Given the description of an element on the screen output the (x, y) to click on. 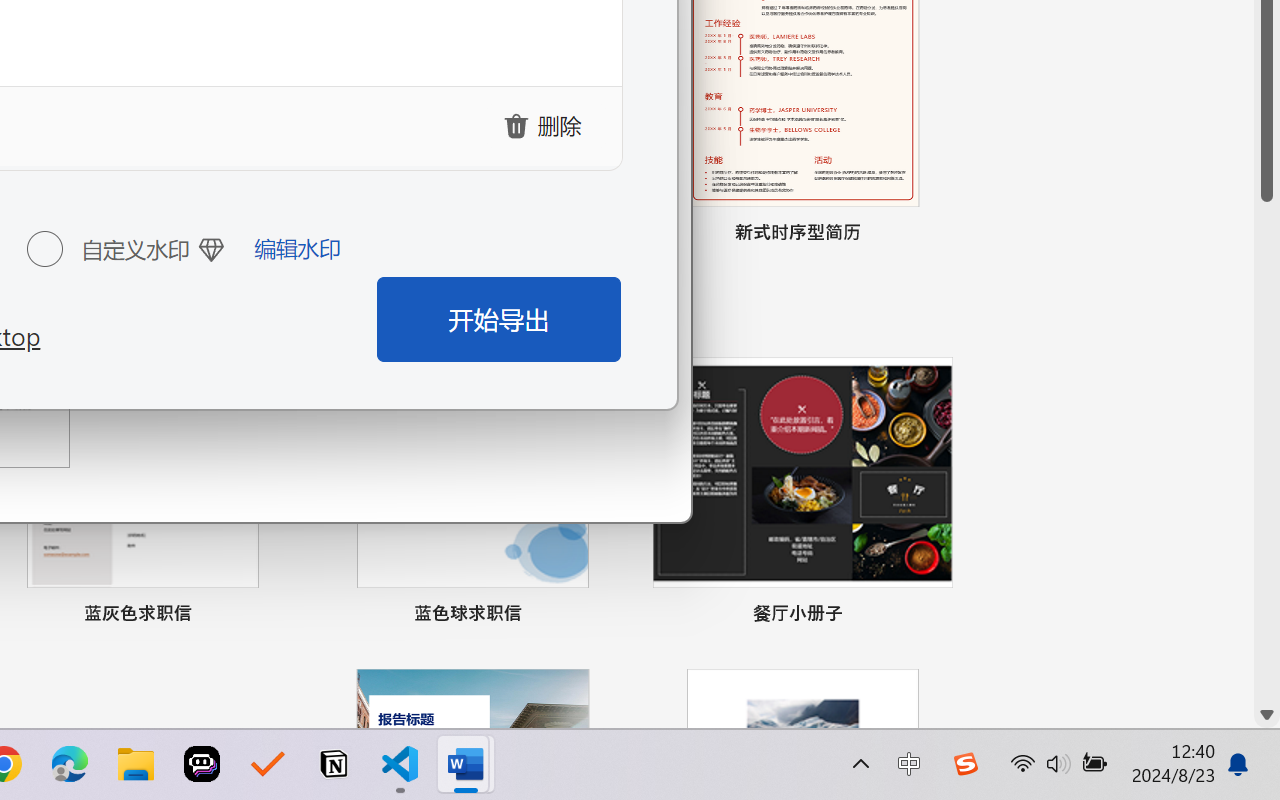
Page down (1267, 451)
Pin to list (934, 616)
Line down (1267, 715)
